Given the description of an element on the screen output the (x, y) to click on. 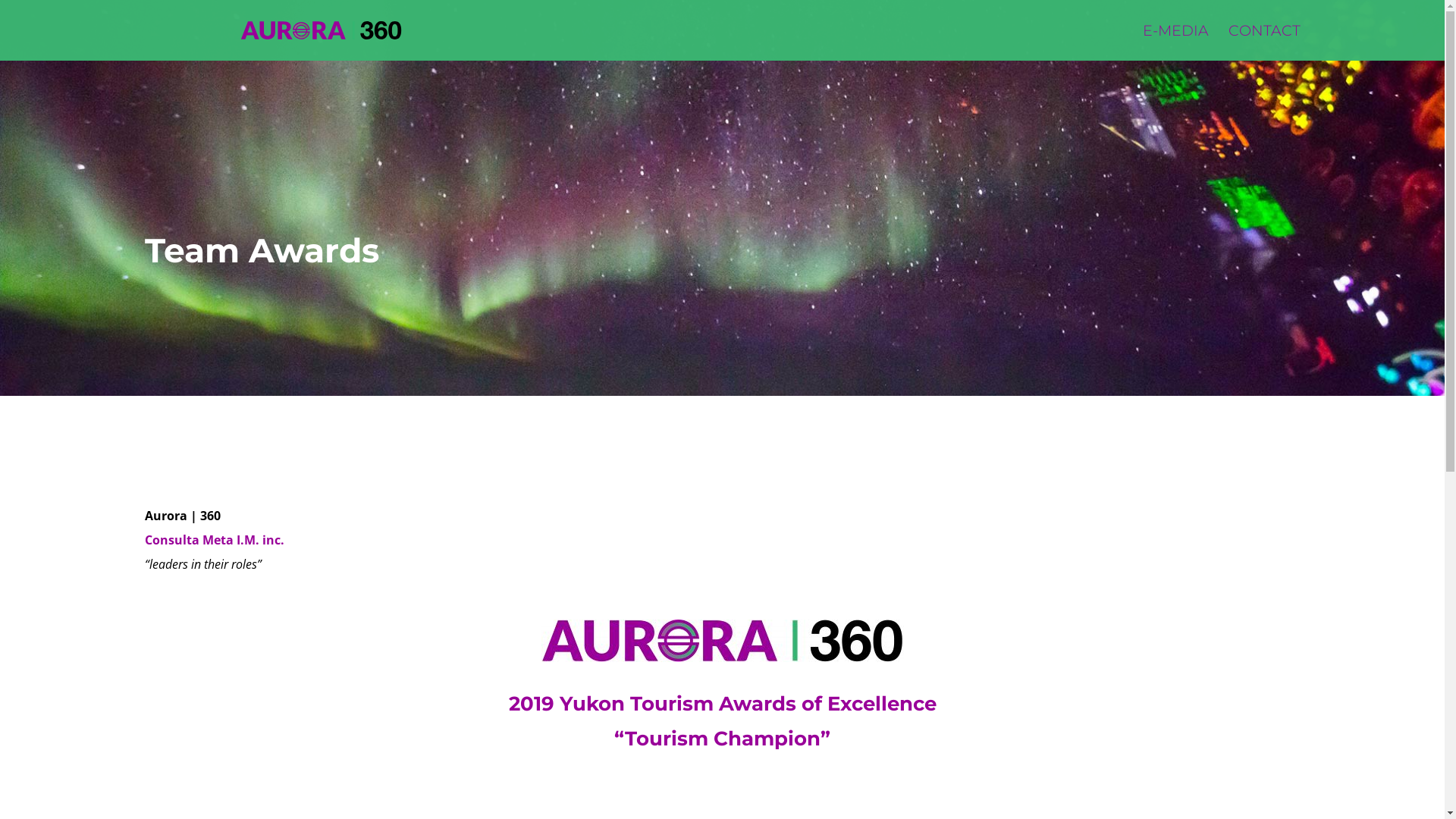
E-MEDIA Element type: text (1175, 42)
Consulta Meta I.M. inc. Element type: text (213, 539)
CONTACT Element type: text (1264, 42)
